Given the description of an element on the screen output the (x, y) to click on. 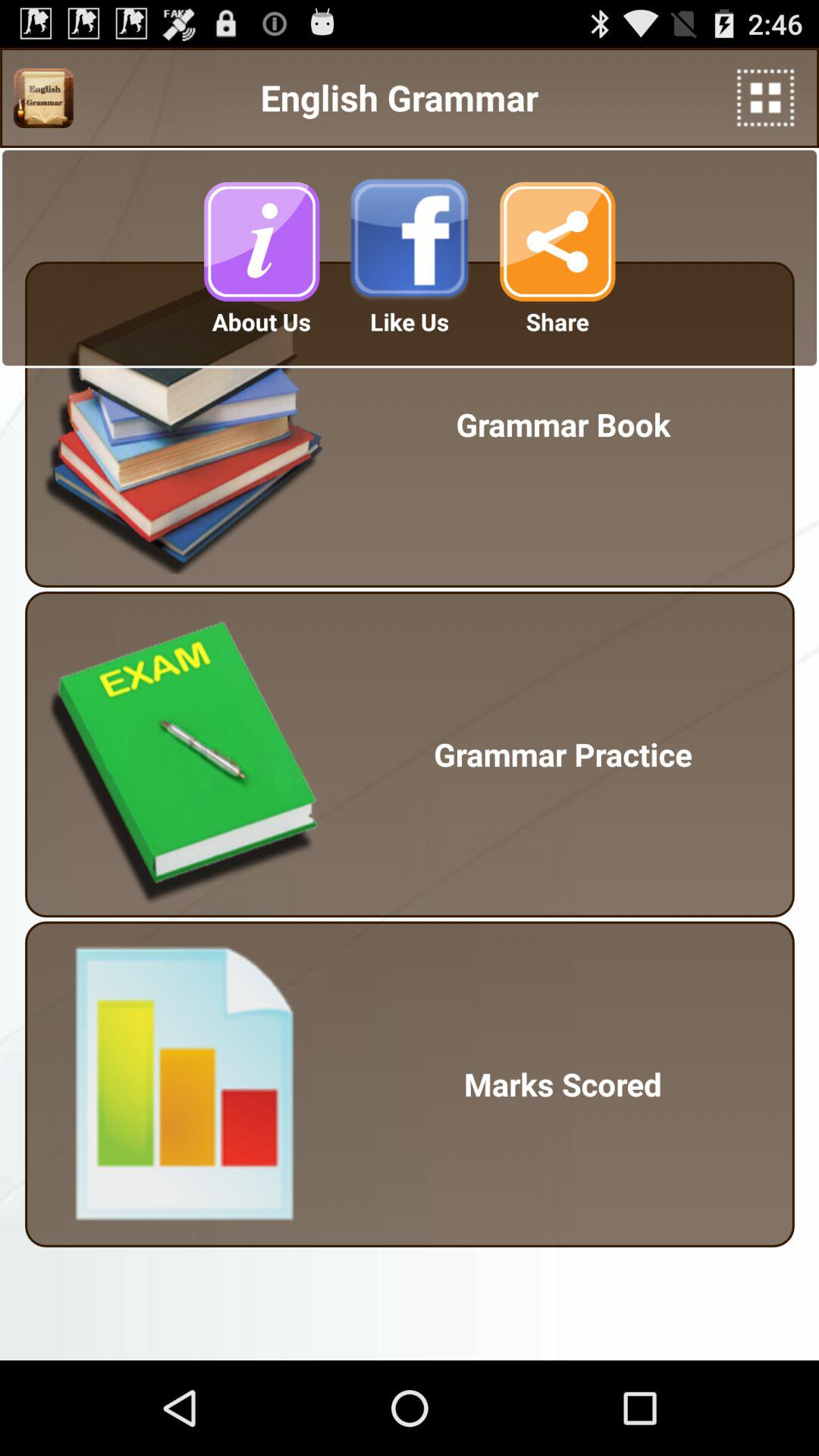
choose icon next to english grammar icon (765, 97)
